Given the description of an element on the screen output the (x, y) to click on. 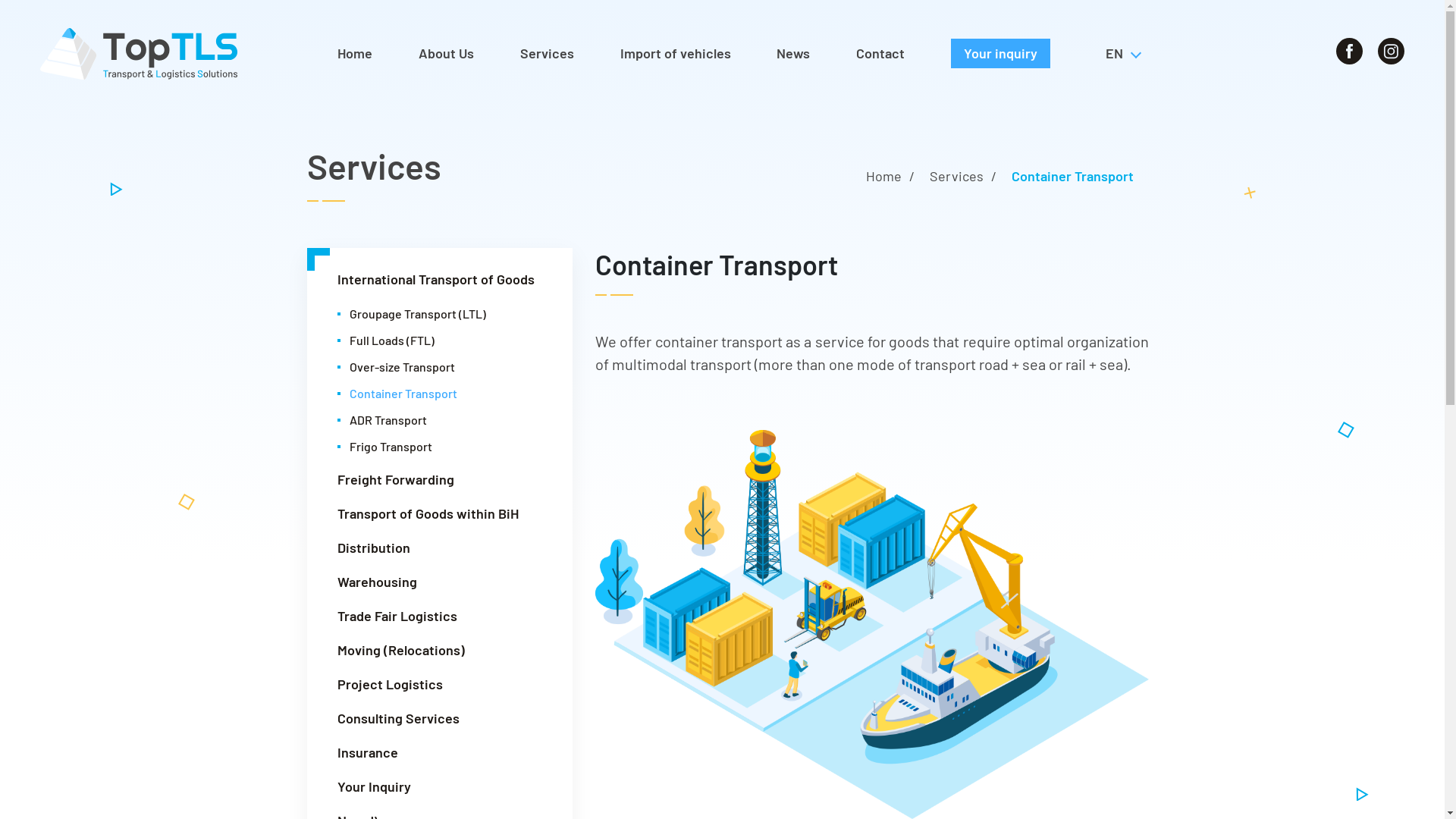
EN Element type: text (1122, 53)
Over-size Transport Element type: text (445, 366)
Warehousing Element type: text (439, 581)
Contact Element type: text (880, 53)
Distribution Element type: text (439, 547)
International Transport of Goods Element type: text (439, 279)
Home Element type: text (354, 53)
Groupage Transport (LTL) Element type: text (445, 313)
Transport of Goods within BiH Element type: text (439, 513)
News Element type: text (792, 53)
Freight Forwarding Element type: text (439, 479)
Moving (Relocations) Element type: text (439, 650)
Project Logistics Element type: text (439, 684)
Trade Fair Logistics Element type: text (439, 615)
Frigo Transport Element type: text (445, 446)
About Us Element type: text (445, 53)
Consulting Services Element type: text (439, 718)
Insurance Element type: text (439, 752)
Container Transport Element type: text (445, 393)
Services Element type: text (547, 53)
ADR Transport Element type: text (445, 420)
Your inquiry Element type: text (1000, 53)
Your inquiry Element type: text (1000, 53)
Import of vehicles Element type: text (675, 53)
Your Inquiry Element type: text (439, 786)
Full Loads (FTL) Element type: text (445, 340)
